Given the description of an element on the screen output the (x, y) to click on. 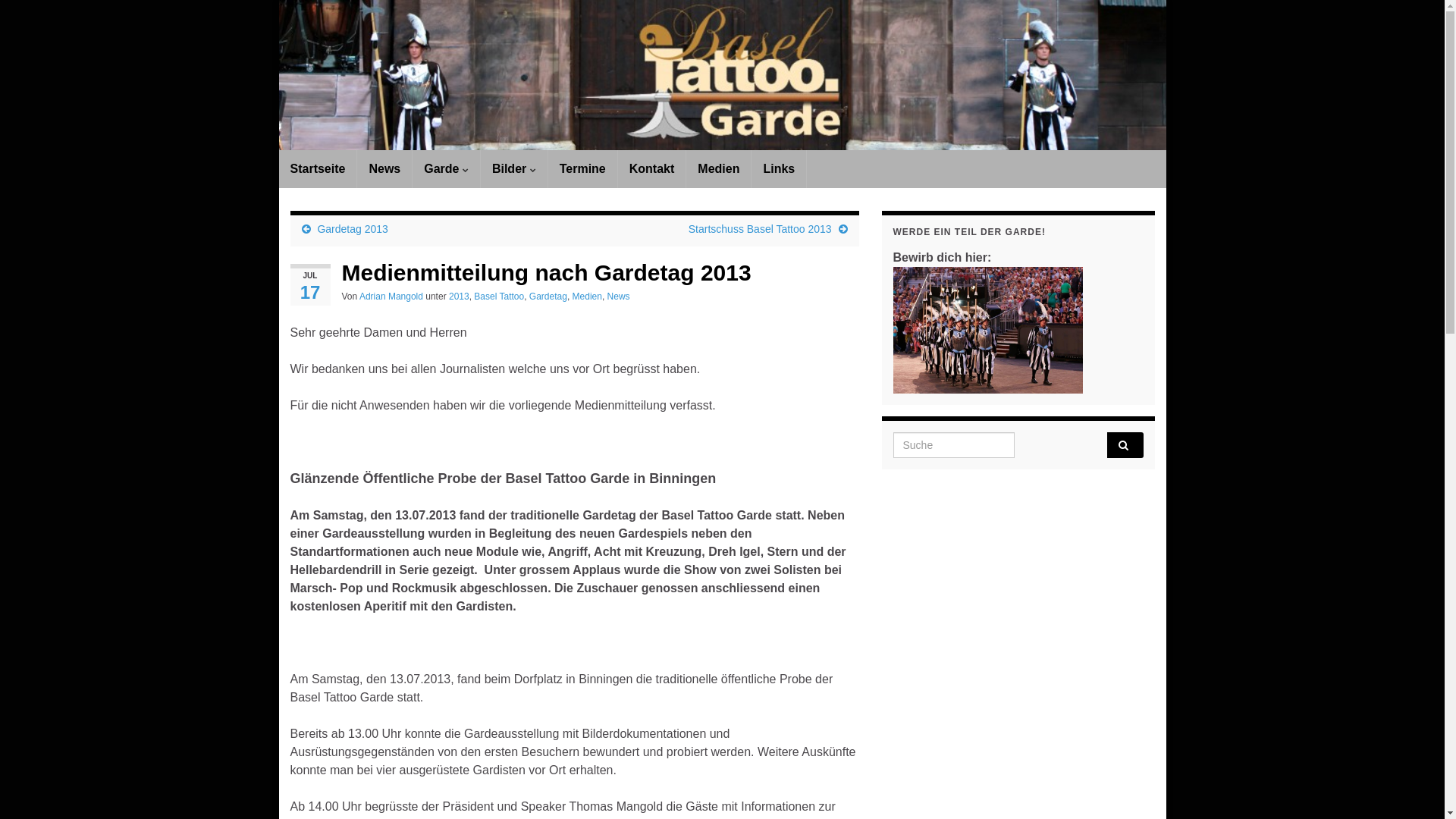
Adrian Mangold Element type: text (391, 296)
Termine Element type: text (582, 169)
Medien Element type: text (718, 169)
Search for: Element type: text (1018, 445)
Medien Element type: text (587, 296)
2013 Element type: text (458, 296)
News Element type: text (618, 296)
Basel Tattoo Element type: text (498, 296)
News Element type: text (384, 169)
  Element type: text (722, 75)
Gardetag Element type: text (548, 296)
Kontakt Element type: text (652, 169)
Startseite Element type: text (318, 169)
Startschuss Basel Tattoo 2013 Element type: text (759, 228)
Bilder Element type: text (513, 169)
cropped-BTG_243.jpg Element type: hover (722, 91)
Garde Element type: text (446, 169)
Gardetag 2013 Element type: text (351, 228)
Links Element type: text (778, 169)
